Given the description of an element on the screen output the (x, y) to click on. 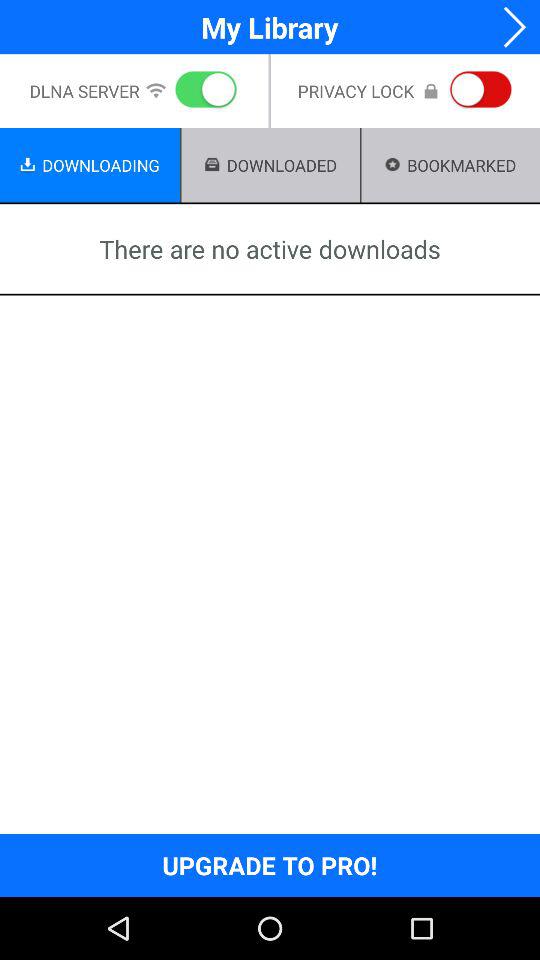
select the icon which is before bookmarked (393, 164)
select the icon which is right to dlna server (155, 90)
click on the button which is on the right side of privacy lock (477, 91)
go to left of downloaded (211, 164)
